Given the description of an element on the screen output the (x, y) to click on. 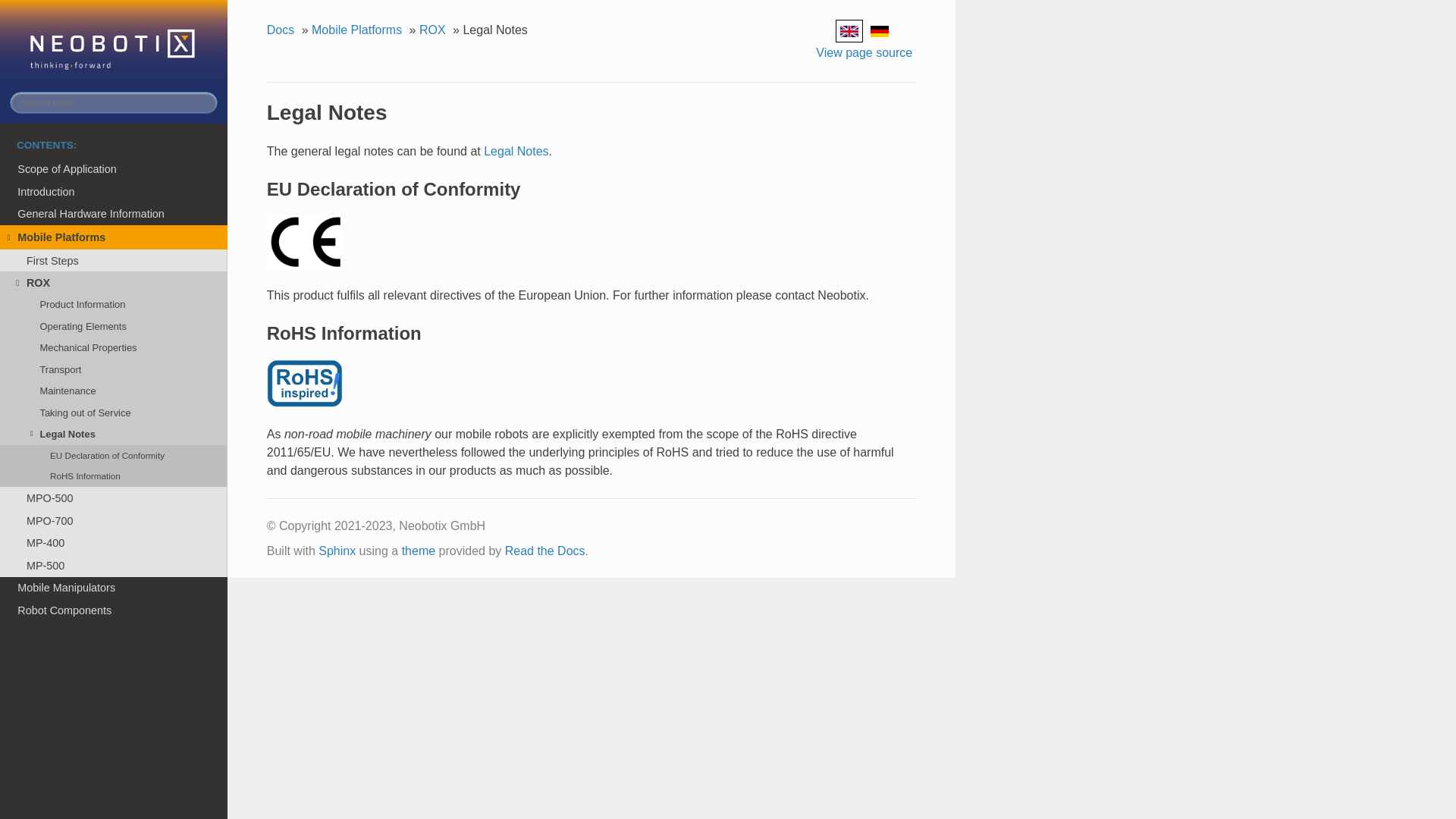
MPO-700 (113, 520)
ROX (113, 282)
MP-500 (113, 565)
General Hardware Information (113, 213)
Mobile Platforms (358, 29)
Read the Docs (545, 550)
View page source (863, 52)
First Steps (113, 260)
Maintenance (113, 391)
EU Declaration of Conformity (113, 455)
